Given the description of an element on the screen output the (x, y) to click on. 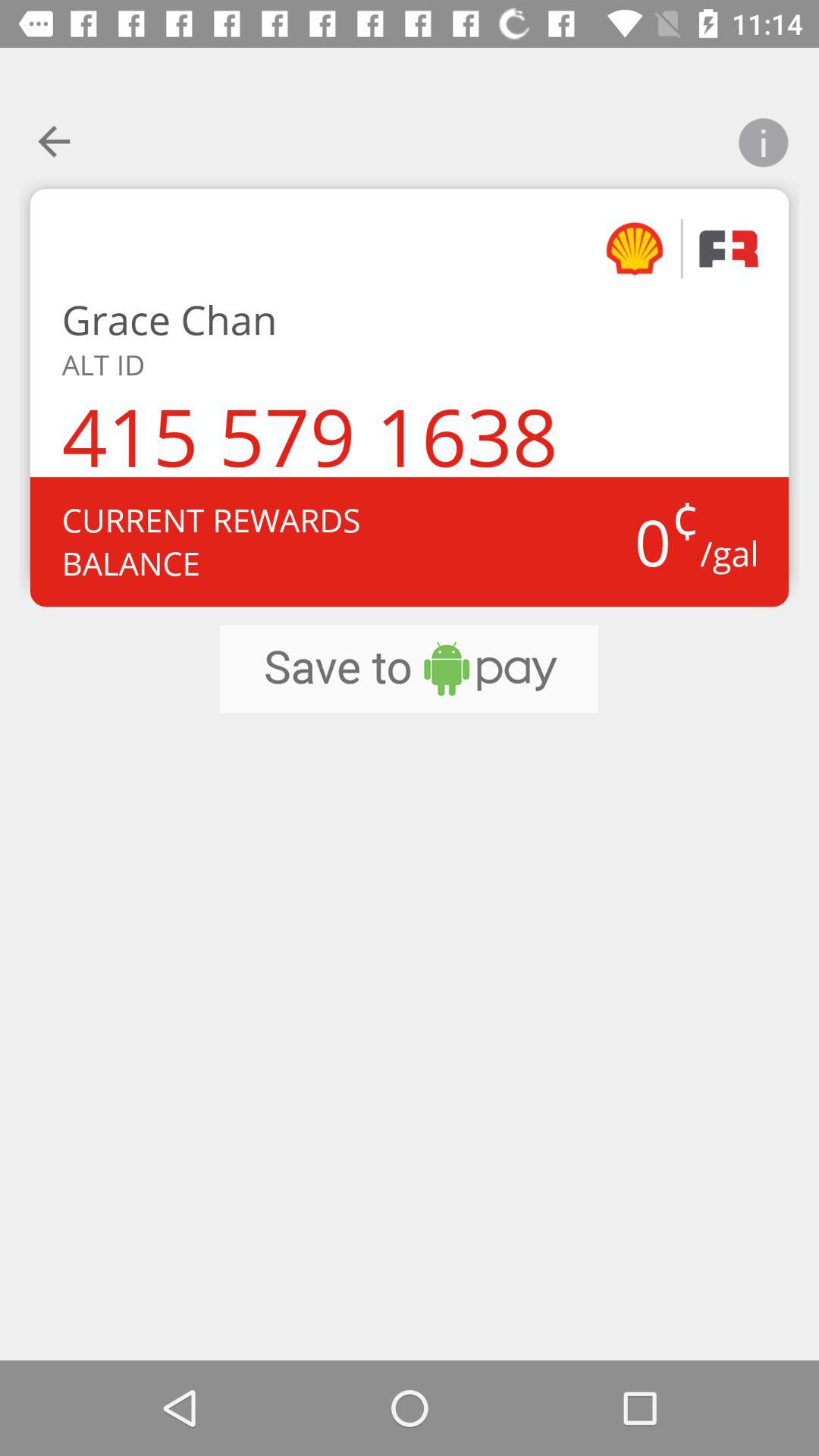
open information (763, 132)
